Given the description of an element on the screen output the (x, y) to click on. 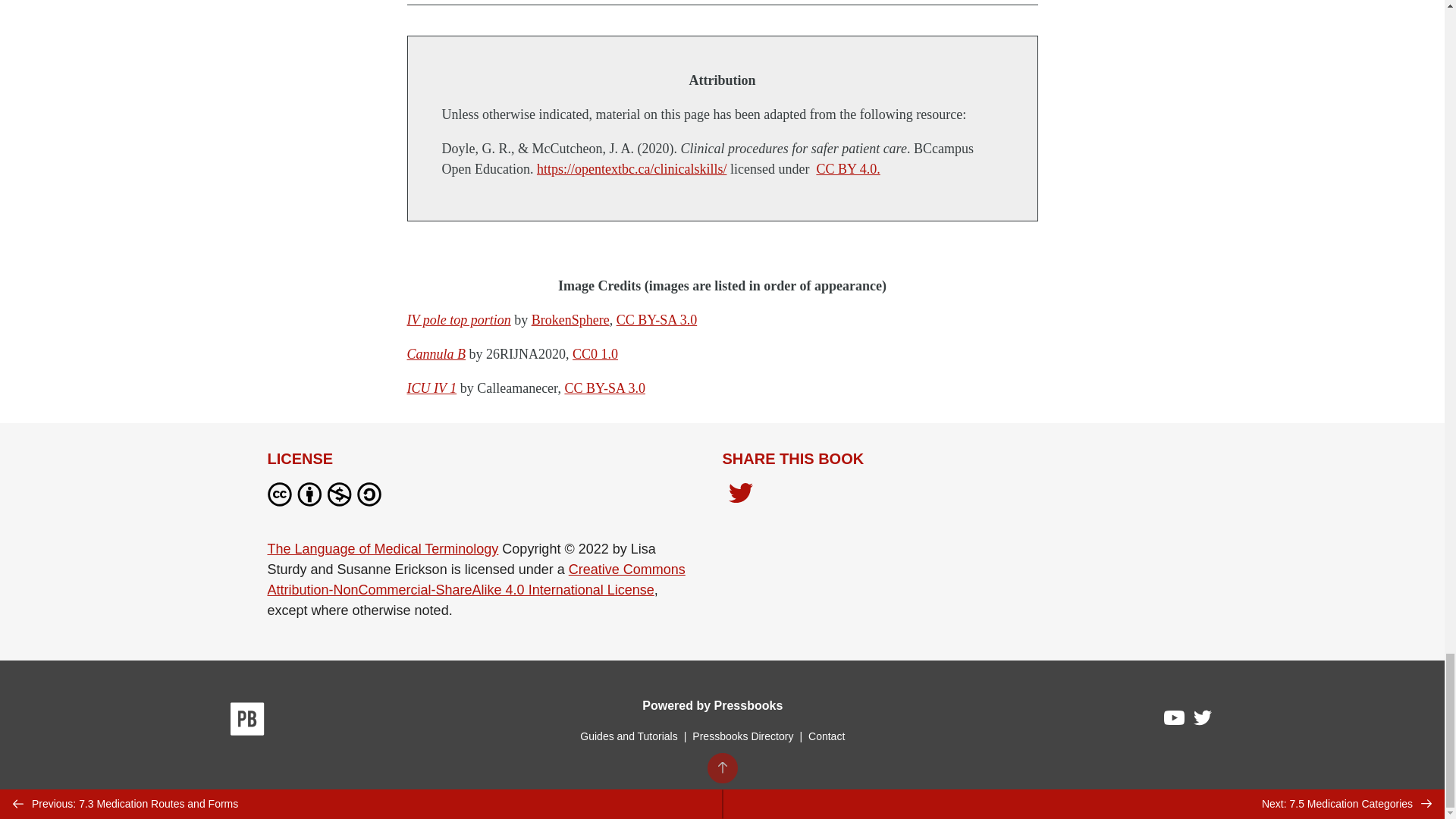
Cannula B (435, 353)
CC0 1.0 (594, 353)
Share on Twitter (740, 496)
CC BY-SA 3.0 (656, 319)
IV pole top portion (458, 319)
Guides and Tutorials (627, 736)
Share on Twitter (740, 494)
Pressbooks on Twitter (1202, 721)
ICU IV 1 (431, 387)
BrokenSphere (570, 319)
CC BY-SA 3.0 (604, 387)
The Language of Medical Terminology (381, 548)
Pressbooks (247, 721)
Pressbooks Directory (742, 736)
